Given the description of an element on the screen output the (x, y) to click on. 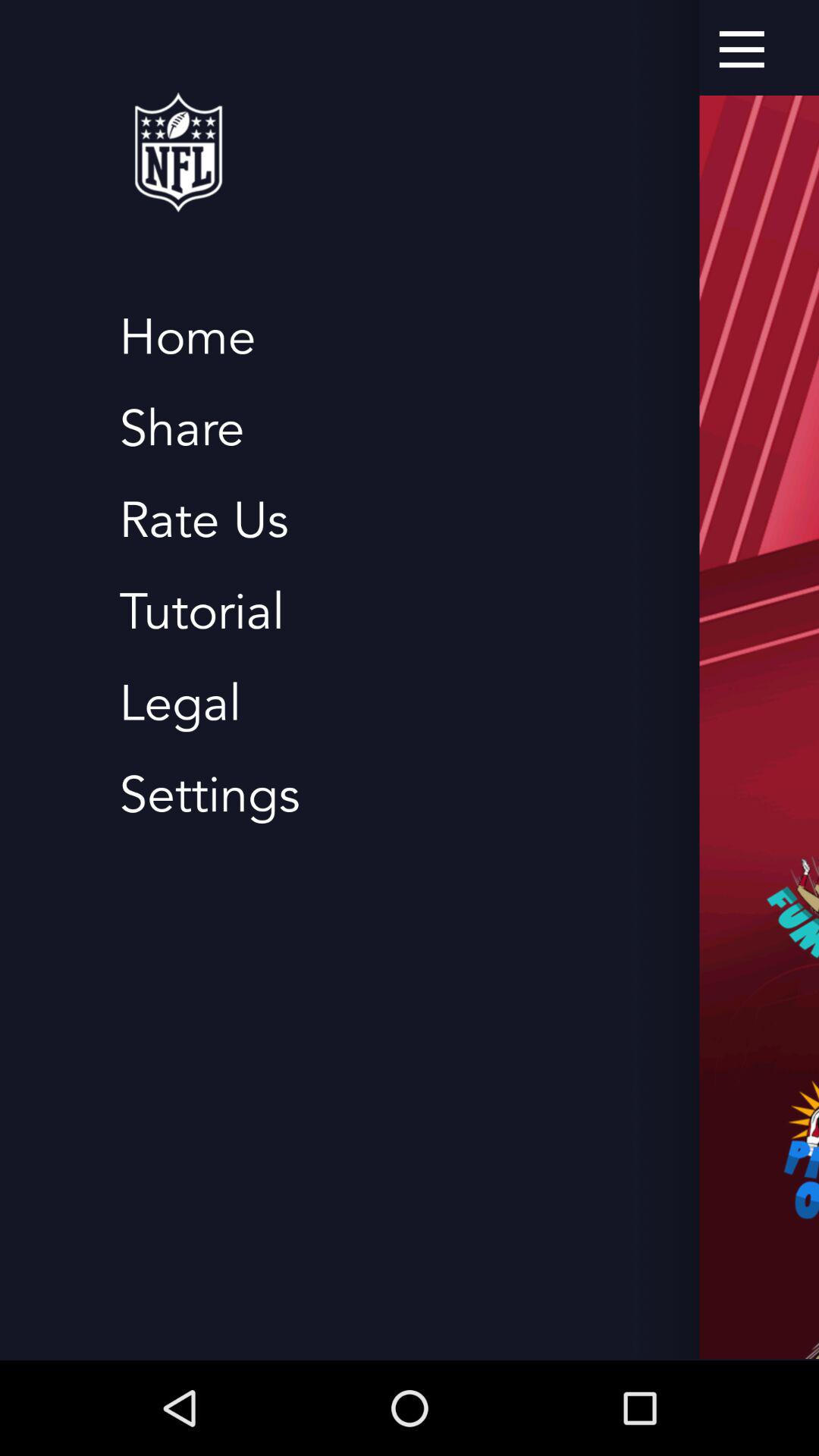
turn off icon above rate us item (181, 429)
